Given the description of an element on the screen output the (x, y) to click on. 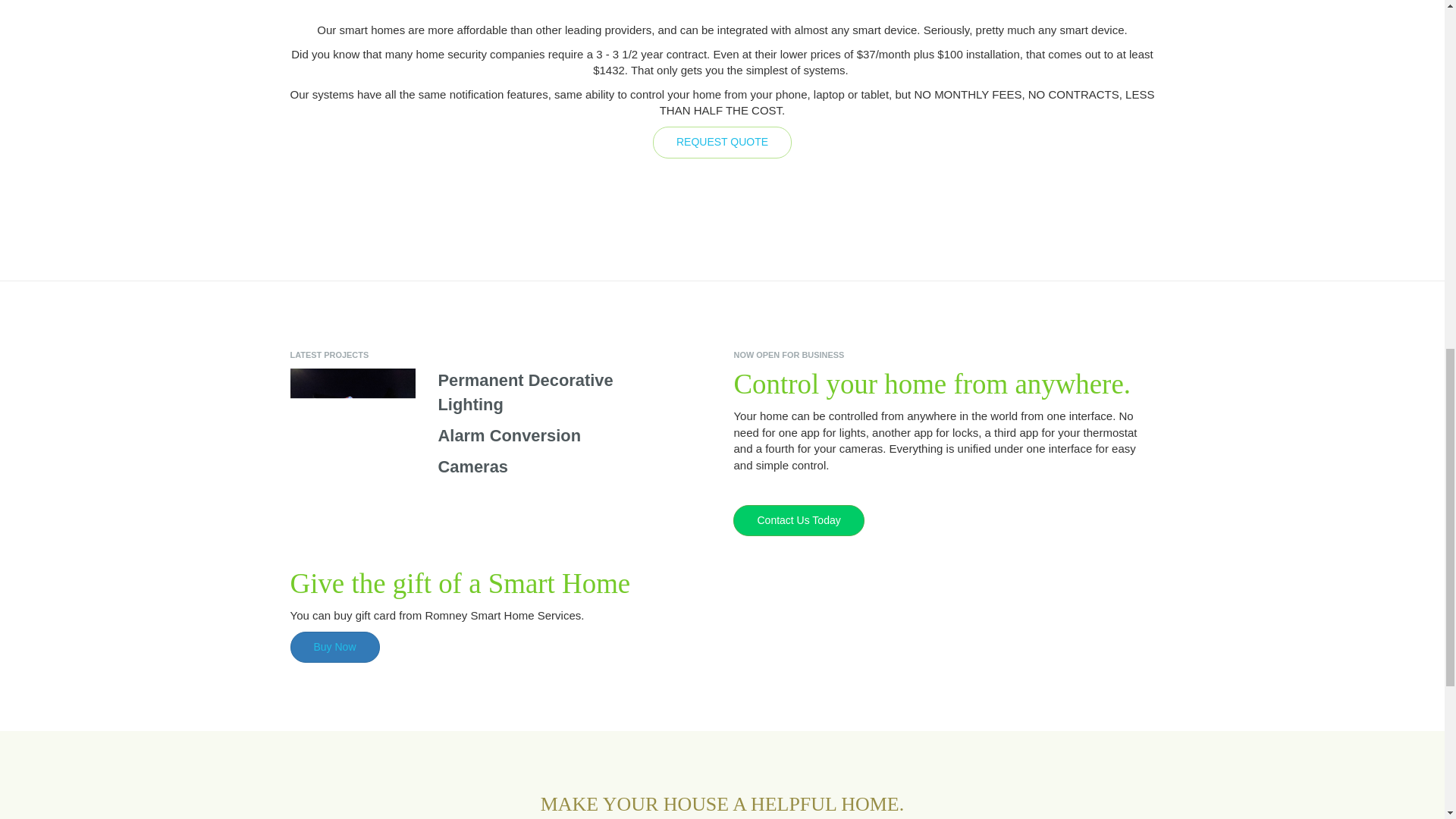
Permanent Decorative Lighting (525, 392)
Cameras (473, 466)
Buy Now (335, 645)
Contact Us Today (798, 518)
REQUEST QUOTE (722, 141)
Alarm Conversion (509, 435)
